Given the description of an element on the screen output the (x, y) to click on. 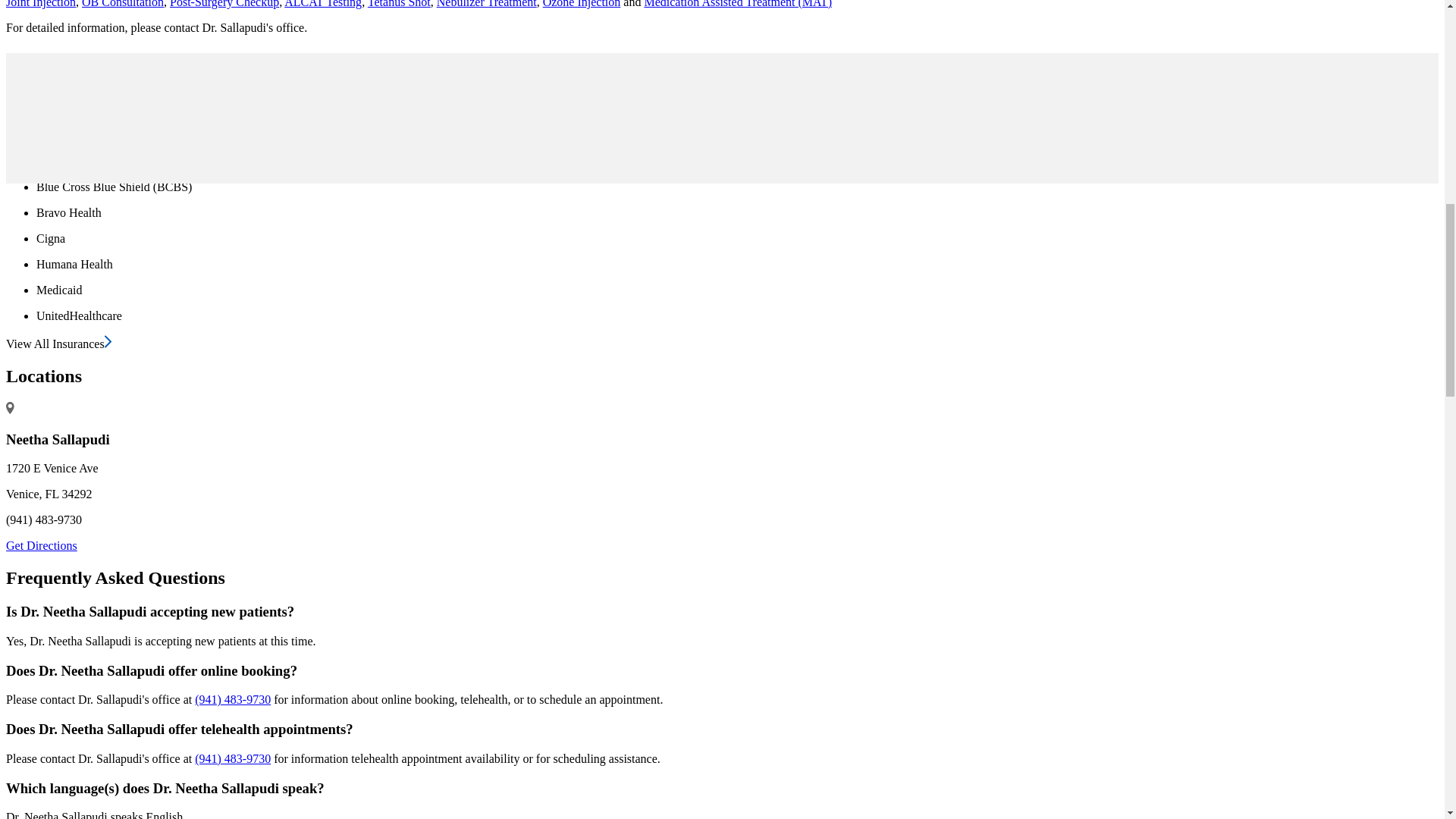
OB Consultation (122, 4)
Post-Surgery Checkup (224, 4)
Tetanus Shot (399, 4)
Ozone Injection (582, 4)
Nebulizer Treatment (486, 4)
ALCAT Testing (322, 4)
Joint Injection (40, 4)
Get Directions (41, 545)
